Given the description of an element on the screen output the (x, y) to click on. 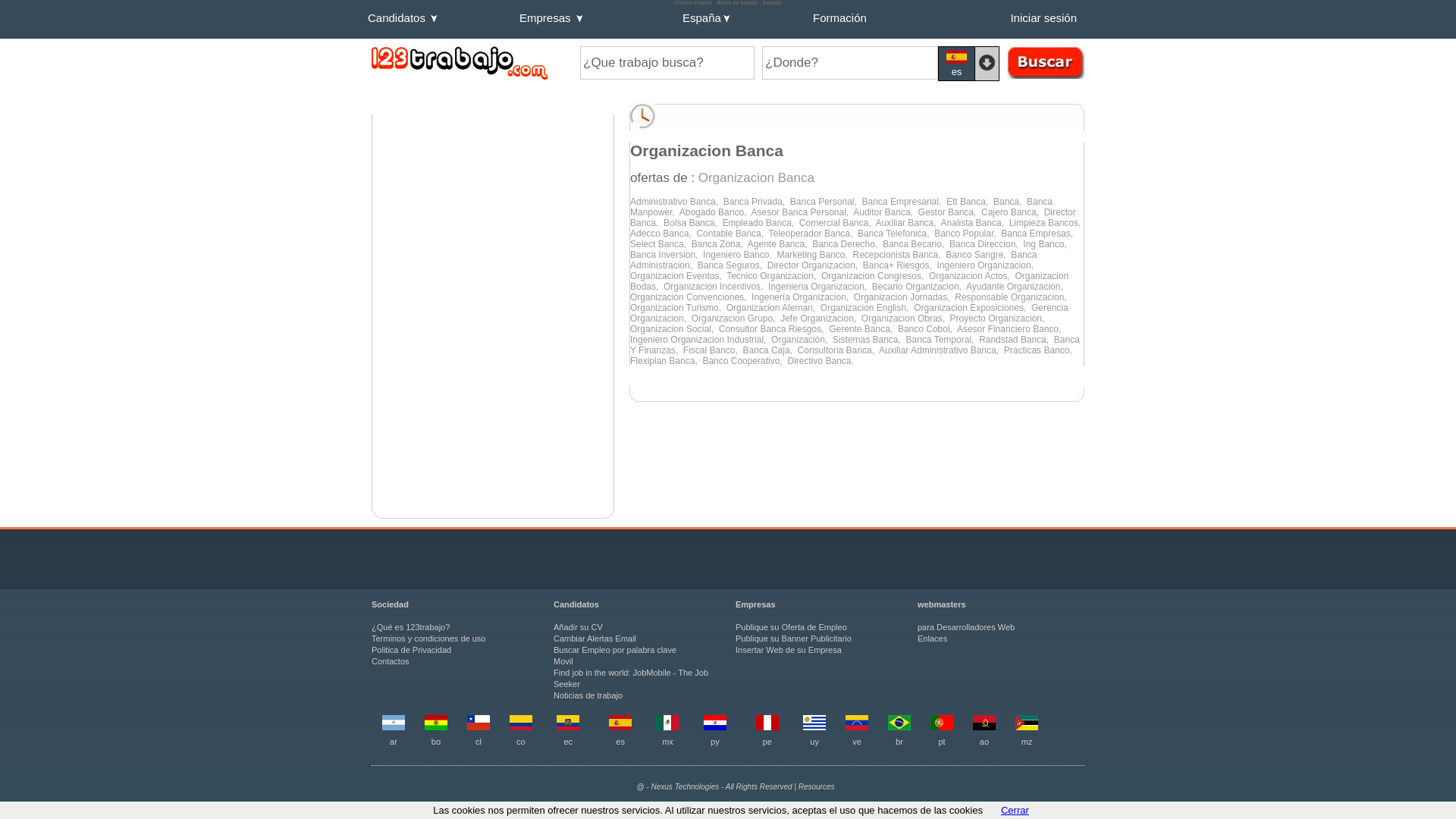
Auxiliar Banca,  Element type: text (908, 222)
Ayudante Organizacion,  Element type: text (1015, 286)
Recepcionista Banca,  Element type: text (899, 254)
cl Element type: text (478, 741)
pt Element type: text (941, 741)
ofertas trabajo mexico Element type: hover (666, 726)
Organizacion Actos,  Element type: text (971, 275)
Organizacion Eventos,  Element type: text (678, 275)
  es Element type: text (956, 63)
Banca Temporal,  Element type: text (942, 339)
py Element type: text (714, 741)
Ing Banco,  Element type: text (1045, 243)
Practicas Banco,  Element type: text (1039, 350)
Administrativo Banca,  Element type: text (676, 201)
Banca Caja,  Element type: text (770, 350)
Terminos y condiciones de uso Element type: text (428, 638)
Buscar Empleo por palabra clave Element type: text (614, 649)
job offers ecuador Element type: hover (567, 726)
Enlaces Element type: text (932, 638)
ofertas trabajo brasil Element type: hover (899, 726)
Tecnico Organizacion,  Element type: text (773, 275)
ofertas trabajo portugal Element type: hover (941, 726)
Cajero Banca,  Element type: text (1012, 212)
es Element type: text (619, 741)
Select Banca,  Element type: text (660, 243)
ofertas trabajo angola Element type: hover (983, 726)
pe Element type: text (766, 741)
Organizacion Congresos,  Element type: text (874, 275)
Agente Banca,  Element type: text (779, 243)
Banco Sangre,  Element type: text (977, 254)
Banco Cobol,  Element type: text (927, 328)
Contactos Element type: text (390, 660)
Banca,  Element type: text (1009, 201)
Banca Inversion,  Element type: text (666, 254)
Candidatos Element type: text (439, 21)
Banco Popular,  Element type: text (967, 233)
Banco Cooperativo,  Element type: text (744, 360)
Insertar Web de su Empresa Element type: text (788, 649)
job offers paraguay Element type: hover (714, 726)
Organizacion Exposiciones,  Element type: text (972, 307)
Politica de Privacidad Element type: text (411, 649)
Organizacion Banca Element type: text (756, 177)
Gerente Banca,  Element type: text (862, 328)
Organizacion Jornadas,  Element type: text (903, 296)
Banca Administracion,  Element type: text (833, 259)
ec Element type: text (567, 741)
Randstad Banca,  Element type: text (1016, 339)
Flexiplan Banca,  Element type: text (666, 360)
Banca Direccion,  Element type: text (985, 243)
Banca Zona,  Element type: text (719, 243)
Consultor Banca Riesgos,  Element type: text (773, 328)
Banca Telefonica,  Element type: text (895, 233)
para Desarrolladores Web Element type: text (965, 626)
Becario Organizacion,  Element type: text (919, 286)
Ingeniero Organizacion Industrial,  Element type: text (700, 339)
Banca Seguros,  Element type: text (732, 265)
Bolsa Banca,  Element type: text (692, 222)
ao Element type: text (983, 741)
Adecco Banca,  Element type: text (663, 233)
Banca Empresas,  Element type: text (1038, 233)
Organizacion Aleman,  Element type: text (773, 307)
Banca Empresarial,  Element type: text (904, 201)
bo Element type: text (435, 741)
Find job in the world: JobMobile - The Job Seeker Element type: text (630, 678)
Banca Becario,  Element type: text (915, 243)
Organizacion English,  Element type: text (866, 307)
Organizacion Incentivos,  Element type: text (715, 286)
Jefe Organizacion,  Element type: text (820, 318)
mx Element type: text (667, 741)
ofertas trabajo colombia Element type: hover (520, 726)
Responsable Organizacion,  Element type: text (1011, 296)
ofertas trabajo chile Element type: hover (478, 726)
Banca Manpower,  Element type: text (841, 206)
Movil Element type: text (563, 660)
Organizacion Convenciones,  Element type: text (690, 296)
Banca Y Finanzas,  Element type: text (854, 344)
Cambiar Alertas Email Element type: text (594, 638)
Banca Privada,  Element type: text (756, 201)
Banca+ Riesgos,  Element type: text (899, 265)
Ingeniero Banco,  Element type: text (739, 254)
Asesor Banca Personal,  Element type: text (801, 212)
Publique su Banner Publicitario Element type: text (793, 638)
Banca Derecho,  Element type: text (847, 243)
Asesor Financiero Banco,  Element type: text (1010, 328)
Ingenieria Organizacion,  Element type: text (820, 286)
Empleado Banca,  Element type: text (759, 222)
Director Banca,  Element type: text (853, 217)
uy Element type: text (814, 741)
Resources Element type: text (816, 786)
Proyecto Organizacion,  Element type: text (998, 318)
Ett Banca,  Element type: text (969, 201)
Ingeniero Organizacion,  Element type: text (986, 265)
ofertas trabajo venezuela Element type: hover (856, 726)
ofertas trabajo uruguay Element type: hover (814, 726)
Organizacion Turismo,  Element type: text (678, 307)
Advertisement Element type: hover (492, 407)
Limpieza Bancos,  Element type: text (1046, 222)
ofertas trabajo argentina Element type: hover (393, 726)
Empresas Element type: text (596, 21)
Auxiliar Administrativo Banca,  Element type: text (941, 350)
Gerencia Organizacion,  Element type: text (849, 312)
Noticias de trabajo Element type: text (587, 694)
job offers bolivia Element type: hover (435, 726)
Organizacion Grupo,  Element type: text (735, 318)
Contable Banca,  Element type: text (732, 233)
Organizacion Social,  Element type: text (674, 328)
ar Element type: text (393, 741)
Organizacion Obras,  Element type: text (905, 318)
Directivo Banca,  Element type: text (821, 360)
ve Element type: text (856, 741)
Abogado Banco,  Element type: text (715, 212)
co Element type: text (520, 741)
Gestor Banca,  Element type: text (949, 212)
Consultoria Banca,  Element type: text (837, 350)
Comercial Banca,  Element type: text (837, 222)
Director Organizacion,  Element type: text (814, 265)
Auditor Banca,  Element type: text (885, 212)
Analista Banca,  Element type: text (975, 222)
br Element type: text (899, 741)
Marketing Banco,  Element type: text (814, 254)
Publique su Oferta de Empleo Element type: text (791, 626)
Teleoperador Banca,  Element type: text (812, 233)
Sistemas Banca,  Element type: text (869, 339)
Advertisement Element type: hover (492, 215)
mz Element type: text (1026, 741)
Organizacion Bodas,  Element type: text (849, 280)
Banca Personal,  Element type: text (826, 201)
Cerrar Element type: text (1015, 809)
Fiscal Banco,  Element type: text (713, 350)
